Given the description of an element on the screen output the (x, y) to click on. 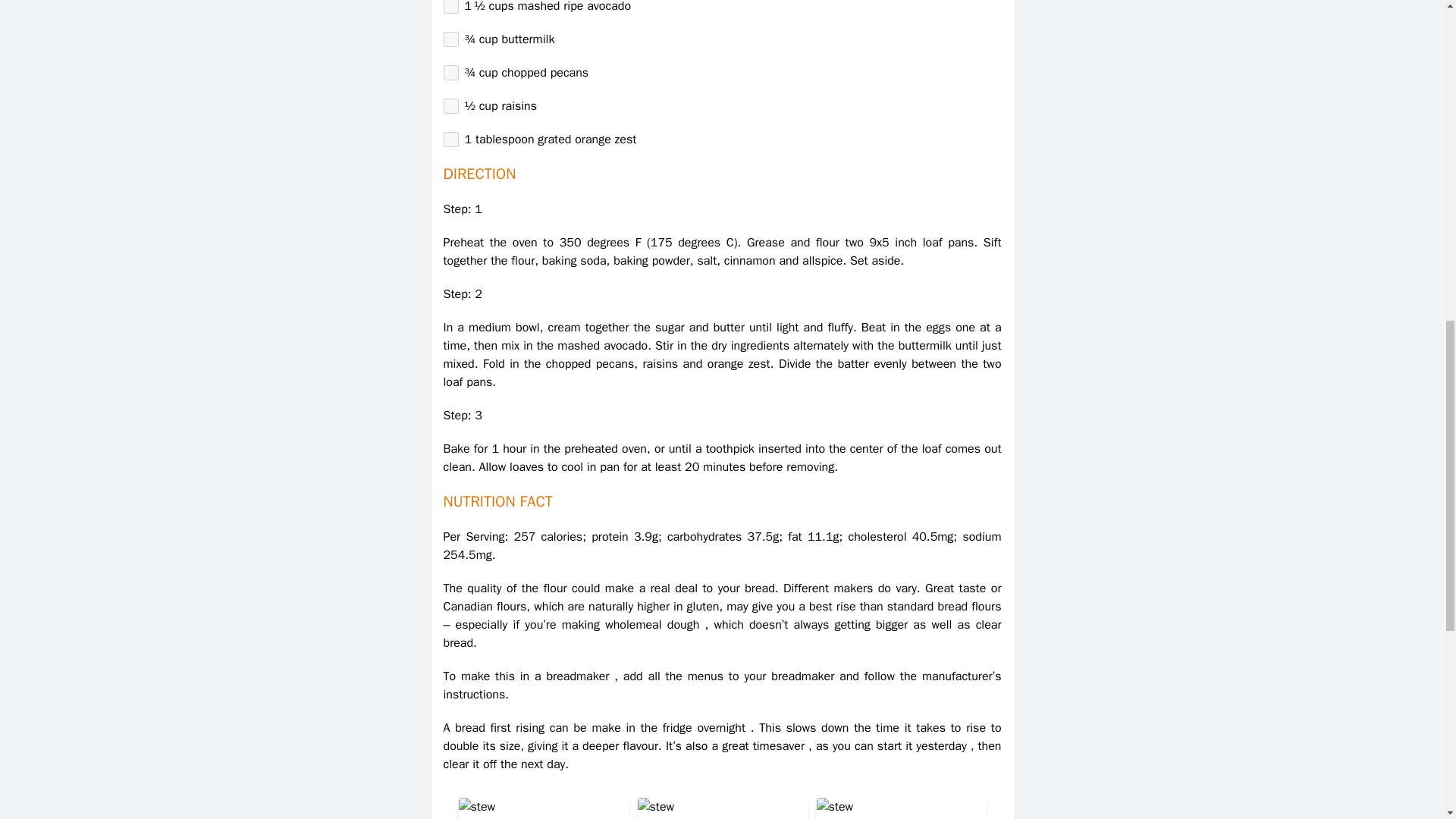
on (450, 72)
on (450, 38)
on (450, 139)
on (450, 105)
on (450, 6)
